Given the description of an element on the screen output the (x, y) to click on. 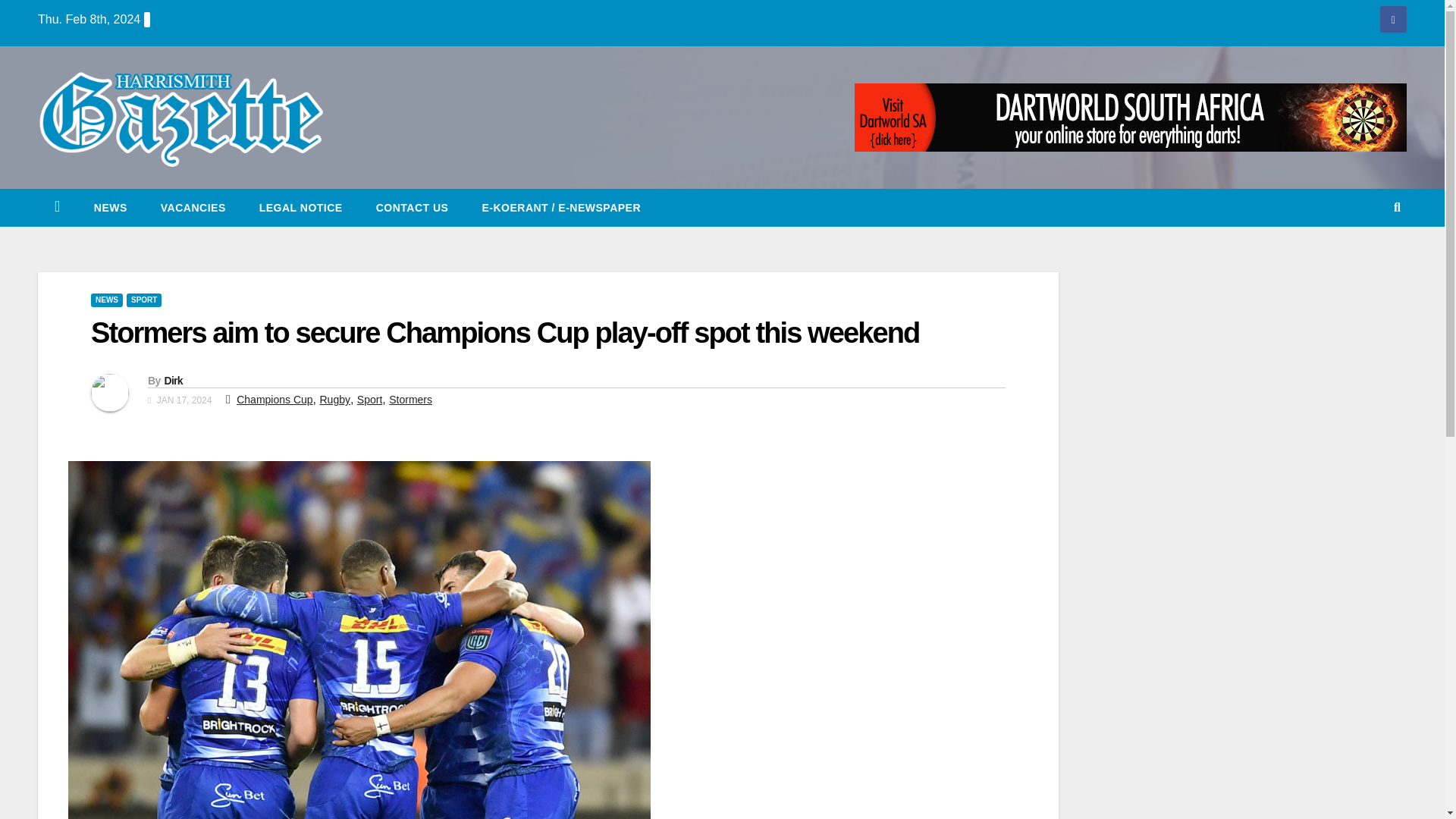
LEGAL NOTICE (301, 207)
NEWS (110, 207)
Dirk (172, 380)
VACANCIES (193, 207)
Vacancies (193, 207)
Sport (368, 399)
Stormers (410, 399)
NEWS (106, 300)
Rugby (333, 399)
CONTACT US (412, 207)
SPORT (143, 300)
CONTACT US (412, 207)
LEGAL NOTICE (301, 207)
Champions Cup (274, 399)
